Given the description of an element on the screen output the (x, y) to click on. 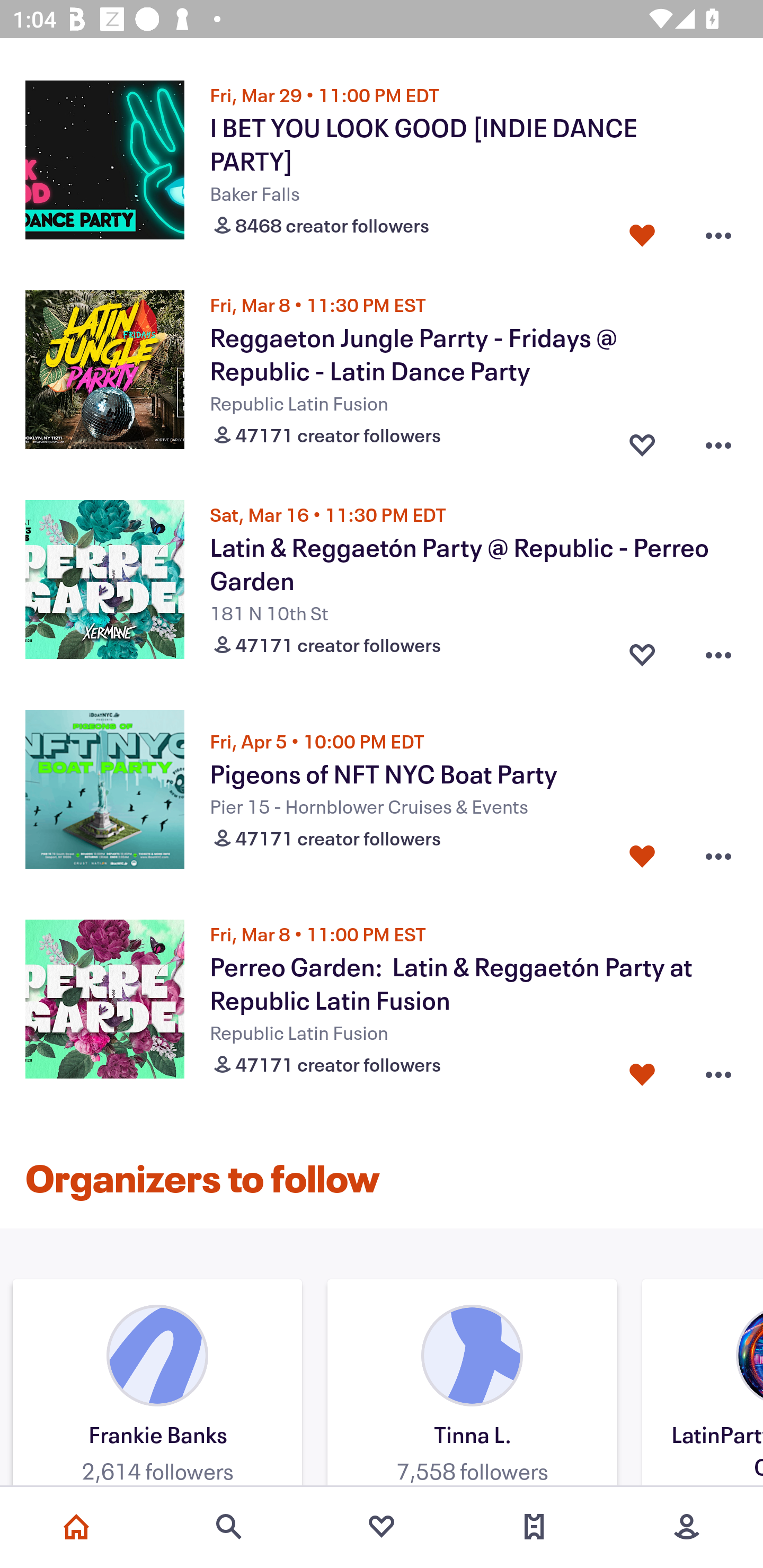
Favorite button (642, 230)
Overflow menu button (718, 230)
Favorite button (642, 441)
Overflow menu button (718, 441)
Favorite button (642, 650)
Overflow menu button (718, 650)
Favorite button (642, 855)
Overflow menu button (718, 855)
Favorite button (642, 1069)
Overflow menu button (718, 1069)
Organizer's image Frankie Banks 2,614 followers (157, 1385)
Organizer's image Tinna L. 7,558 followers (471, 1385)
Home (76, 1526)
Search events (228, 1526)
Favorites (381, 1526)
Tickets (533, 1526)
More (686, 1526)
